Given the description of an element on the screen output the (x, y) to click on. 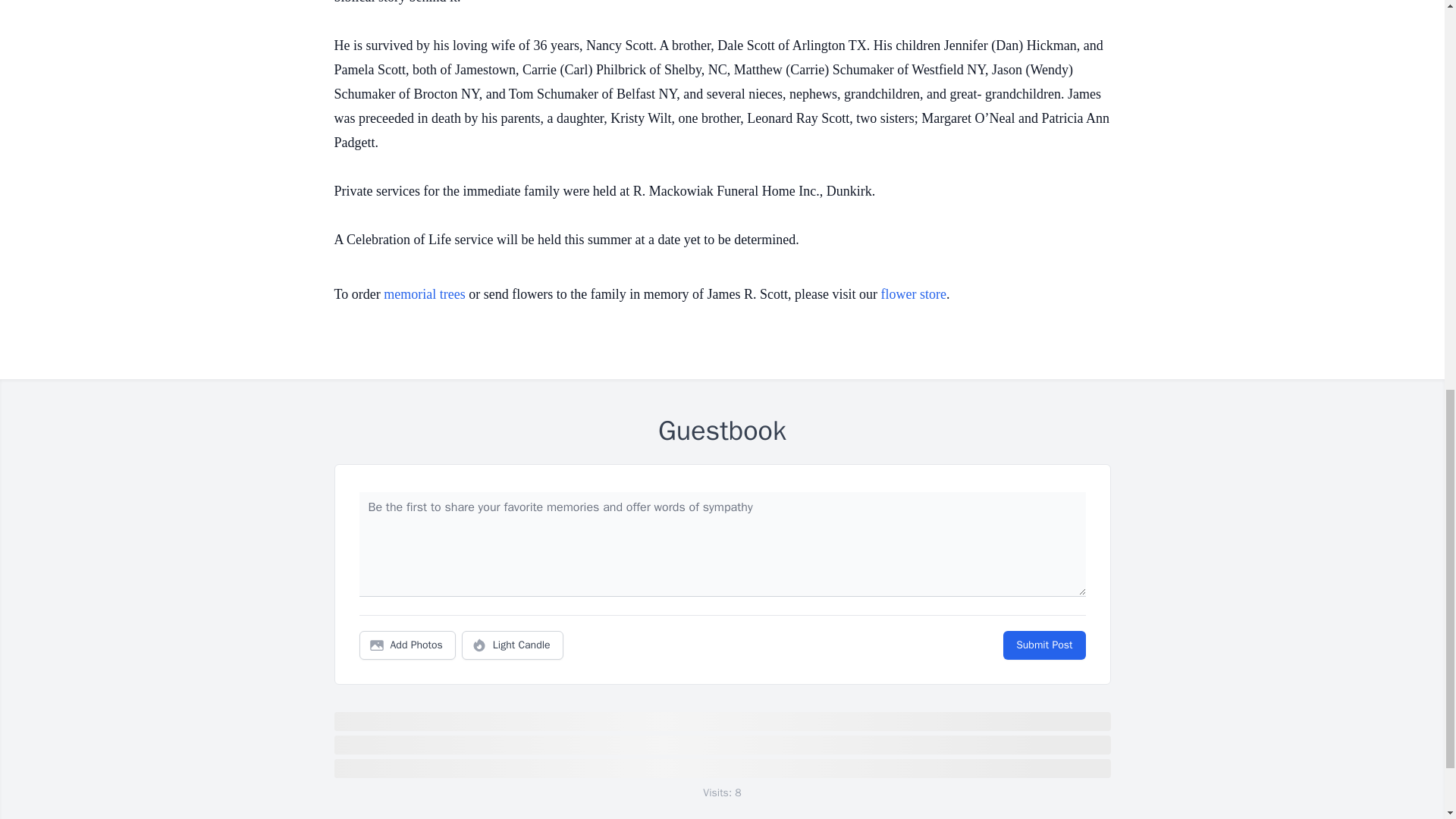
Add Photos (407, 645)
Submit Post (1043, 645)
Light Candle (512, 645)
flower store (913, 294)
memorial trees (424, 294)
